Given the description of an element on the screen output the (x, y) to click on. 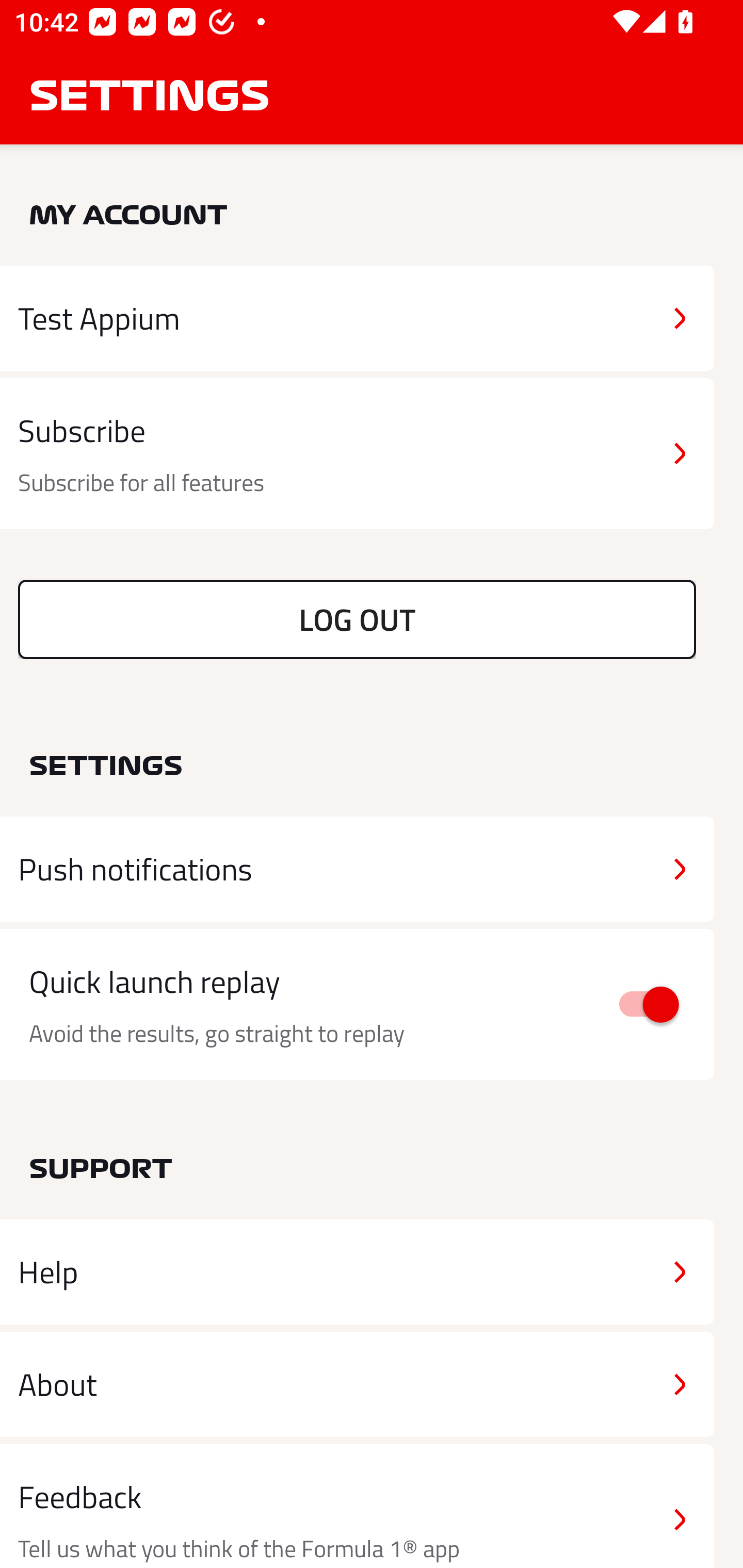
Test Appium (357, 317)
Subscribe Subscribe for all features (357, 453)
LOG OUT (356, 619)
Push notifications (357, 868)
Help (357, 1271)
About (357, 1383)
